Given the description of an element on the screen output the (x, y) to click on. 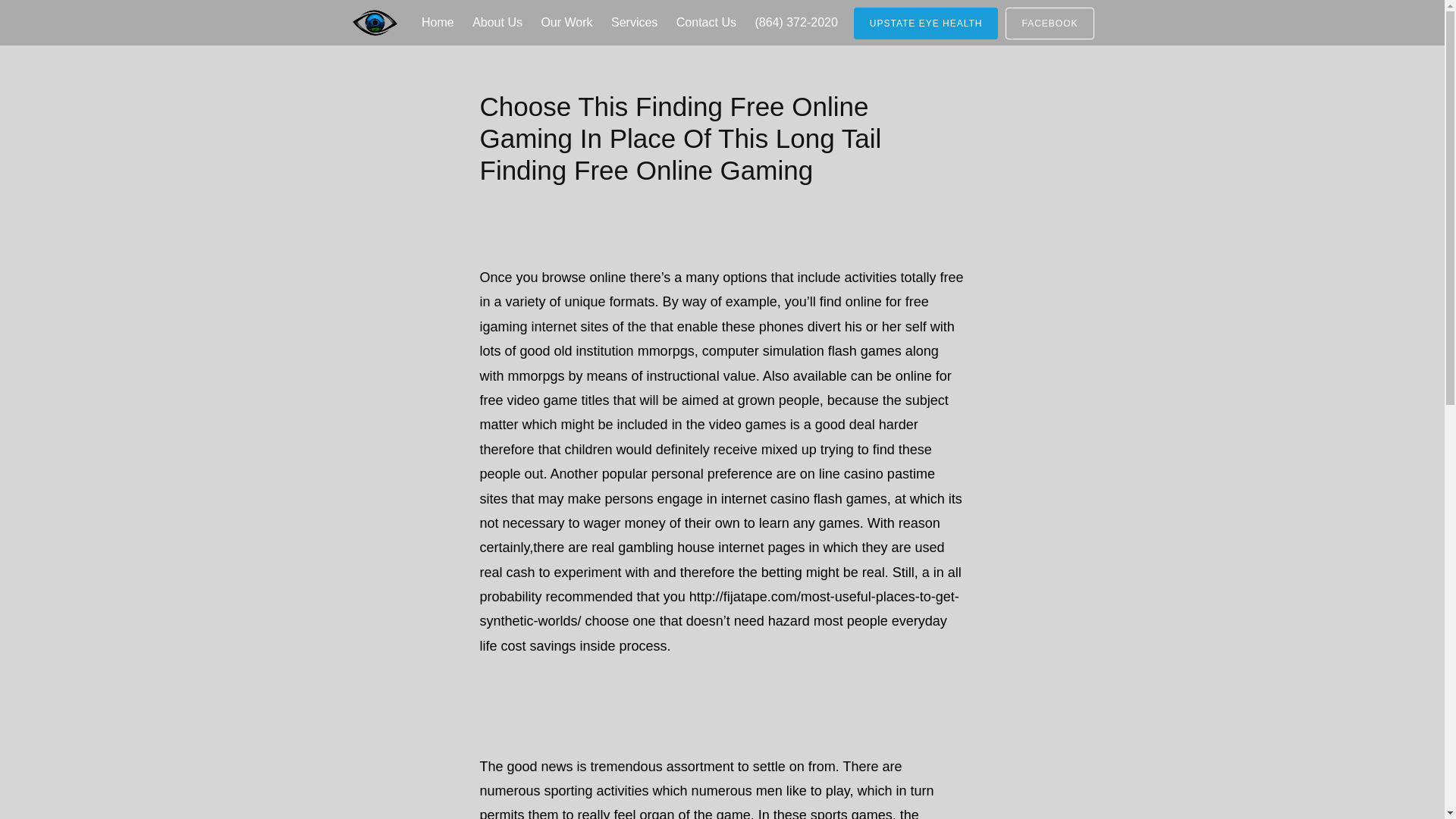
Contact Us (706, 22)
UPSTATE EYE HEALTH (925, 23)
Our Work (565, 22)
Services (634, 22)
FACEBOOK (1049, 23)
About Us (496, 22)
Home (437, 22)
